Given the description of an element on the screen output the (x, y) to click on. 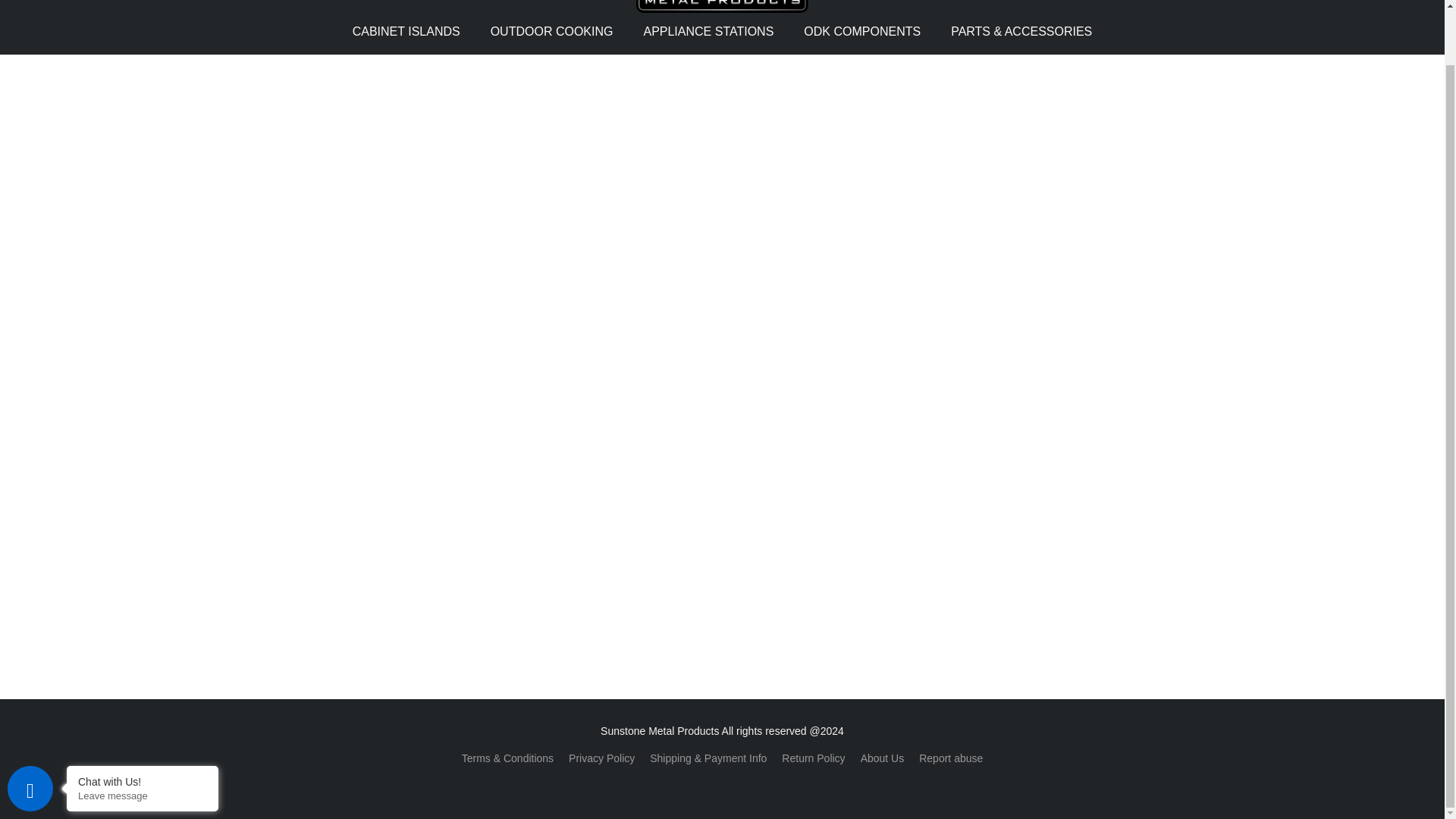
Report abuse (950, 758)
Privacy Policy (601, 758)
OUTDOOR COOKING (552, 31)
APPLIANCE STATIONS (722, 785)
ODK COMPONENTS (708, 31)
Return Policy (862, 31)
CABINET ISLANDS (812, 758)
Chat with Us! (414, 31)
Leave message (142, 722)
About Us (142, 736)
